Given the description of an element on the screen output the (x, y) to click on. 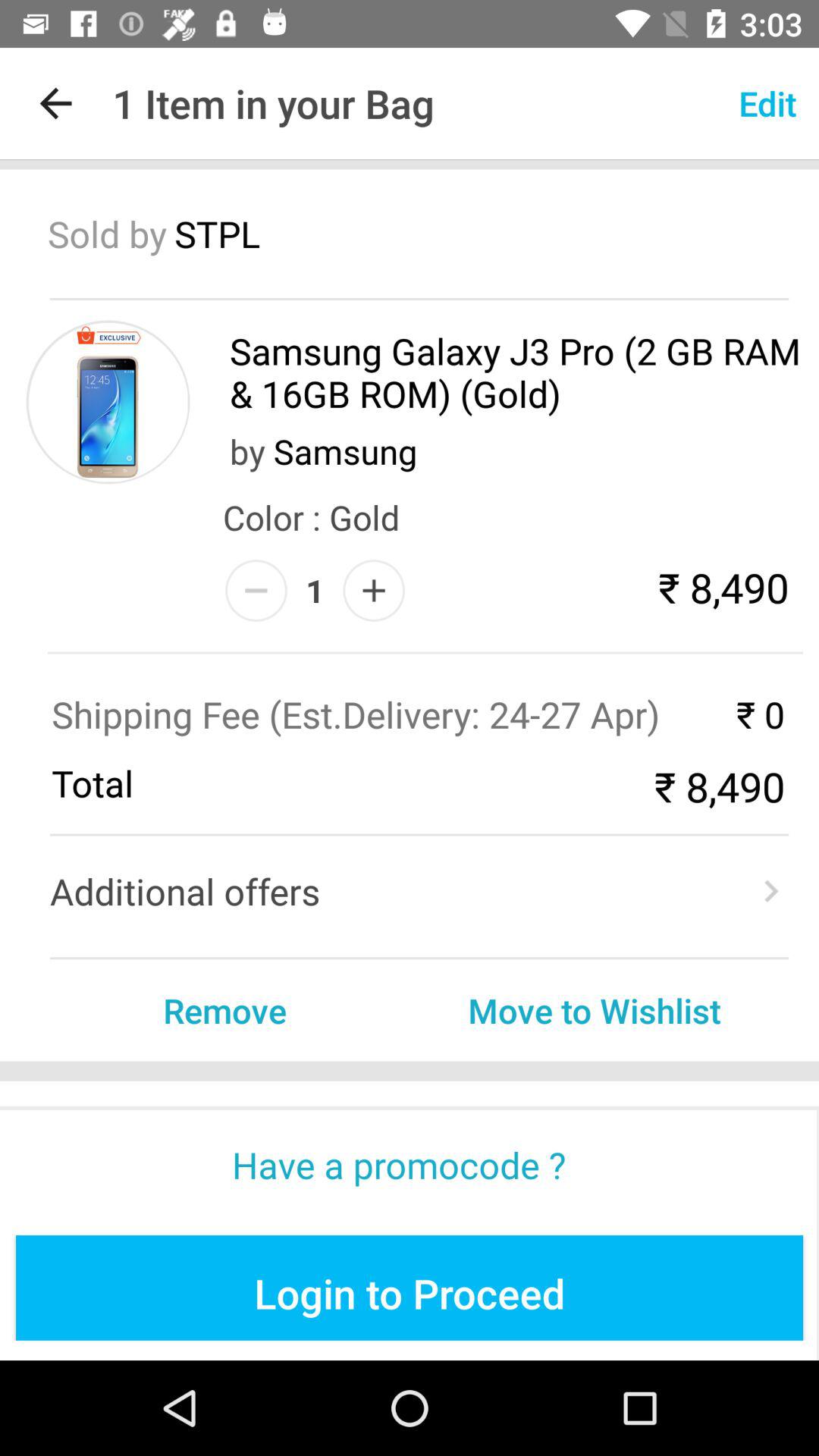
click on blue color button at the bottom (409, 1287)
select the text beside the image (516, 371)
